Given the description of an element on the screen output the (x, y) to click on. 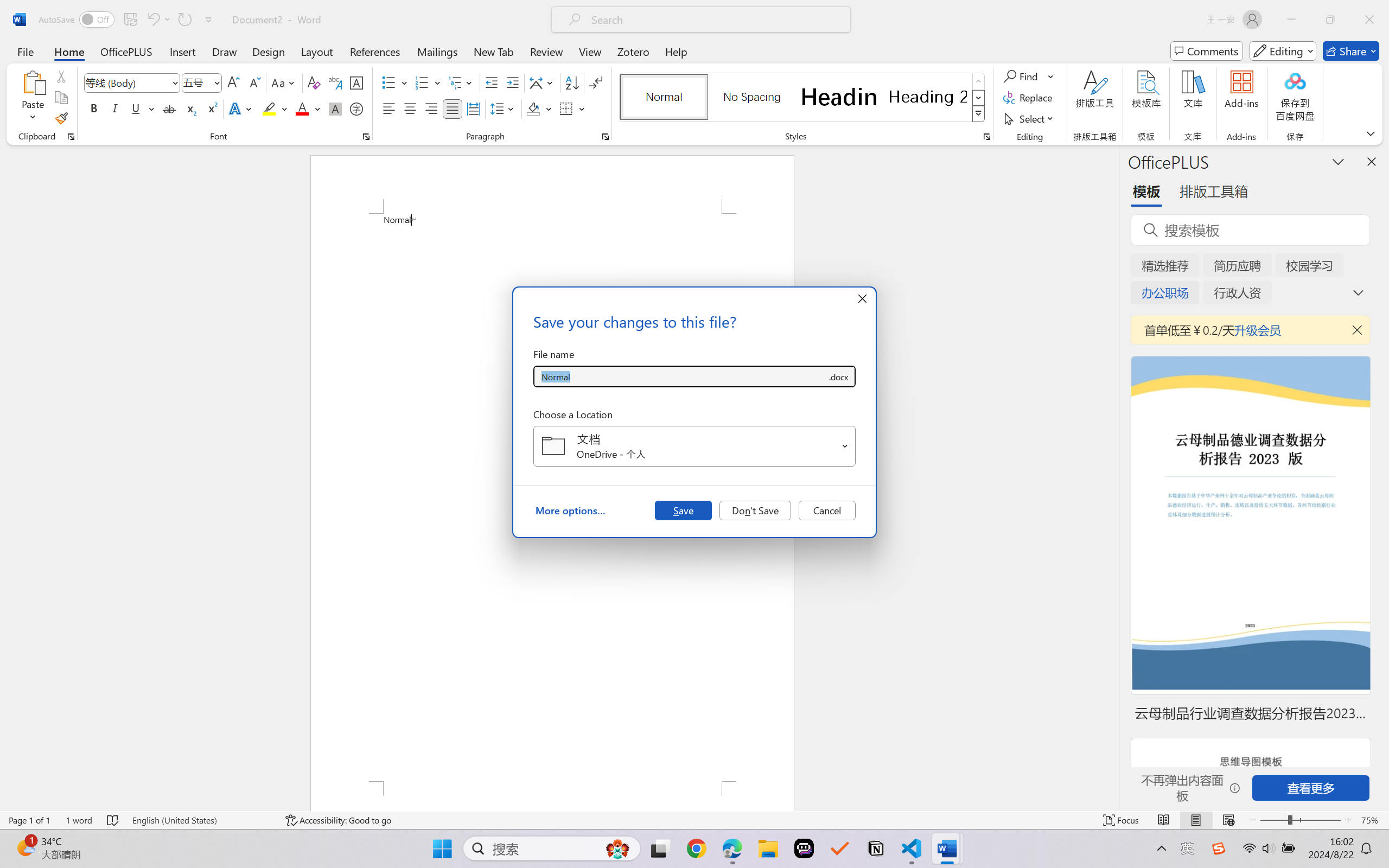
Font Color (308, 108)
Underline (142, 108)
Copy (60, 97)
Choose a Location (694, 446)
Microsoft search (715, 19)
Save as type (837, 376)
Show/Hide Editing Marks (595, 82)
Restore Down (1330, 19)
Class: NetUIScrollBar (1111, 477)
Open (844, 446)
Font Size (196, 82)
